Given the description of an element on the screen output the (x, y) to click on. 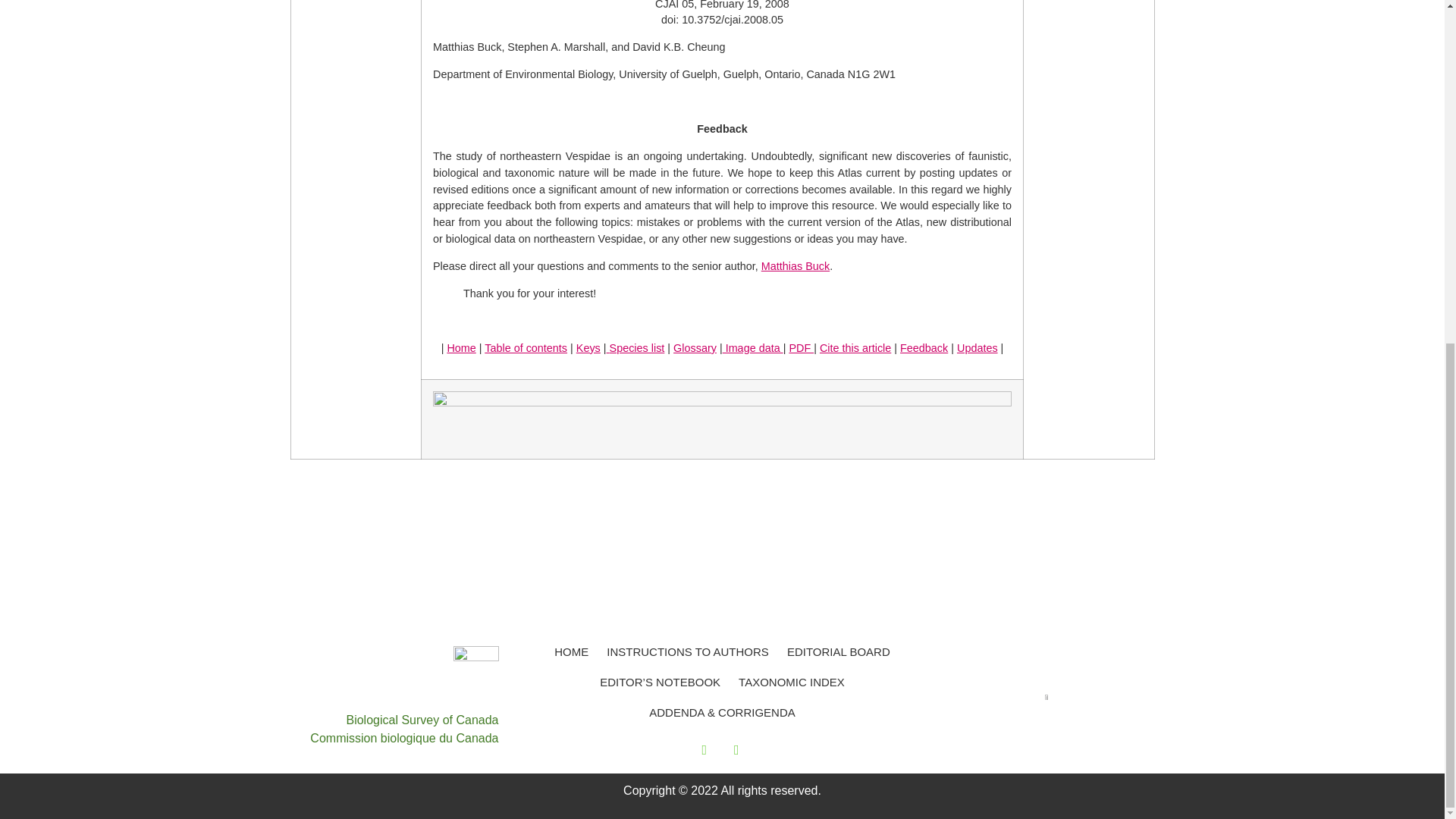
Glossary (694, 346)
Table of contents (525, 346)
PDF (801, 346)
Keys (587, 346)
Image data (752, 346)
Matthias Buck (795, 265)
Species list (637, 346)
Home (461, 346)
